Given the description of an element on the screen output the (x, y) to click on. 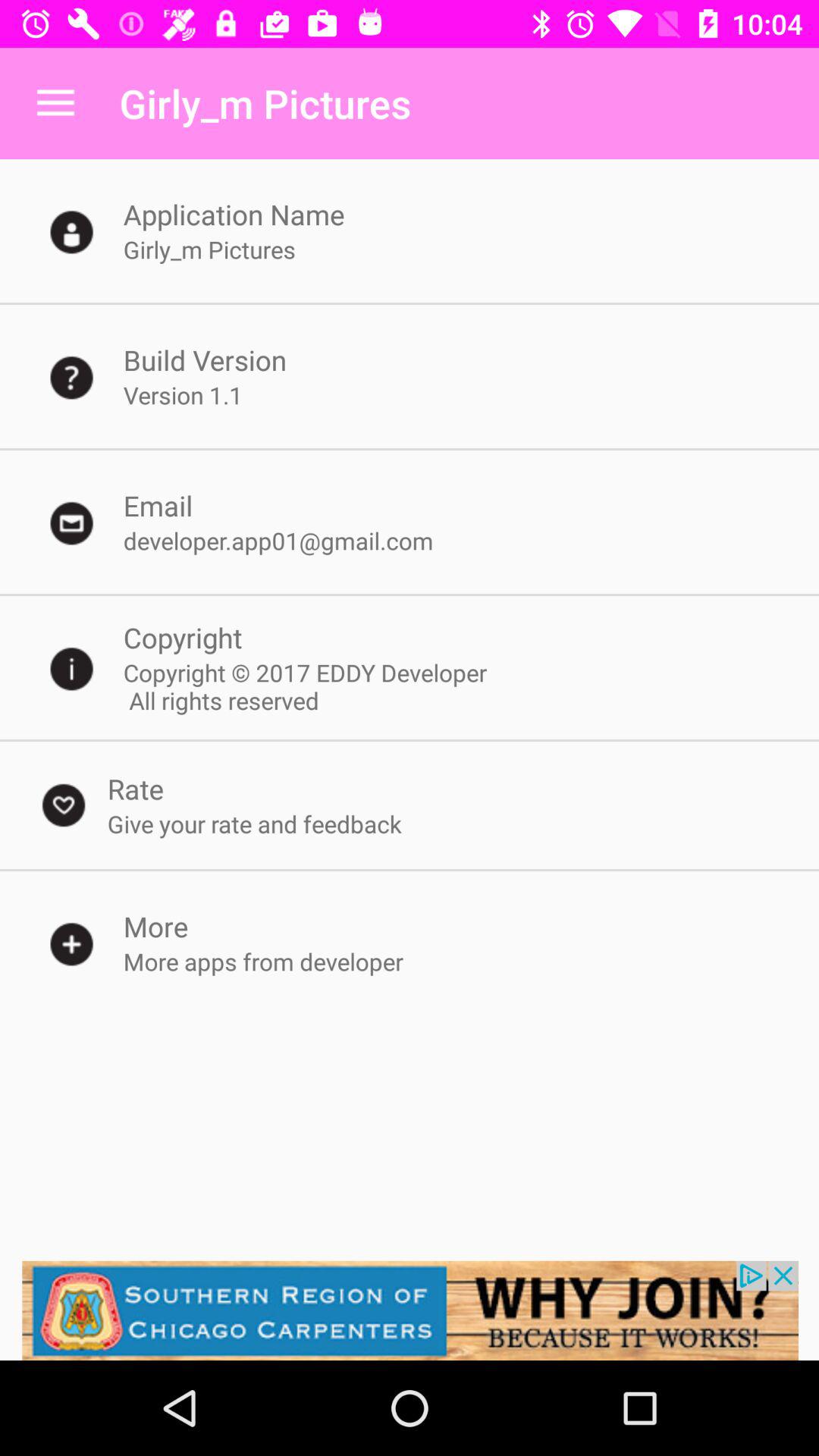
go to advertisements website (409, 1310)
